Given the description of an element on the screen output the (x, y) to click on. 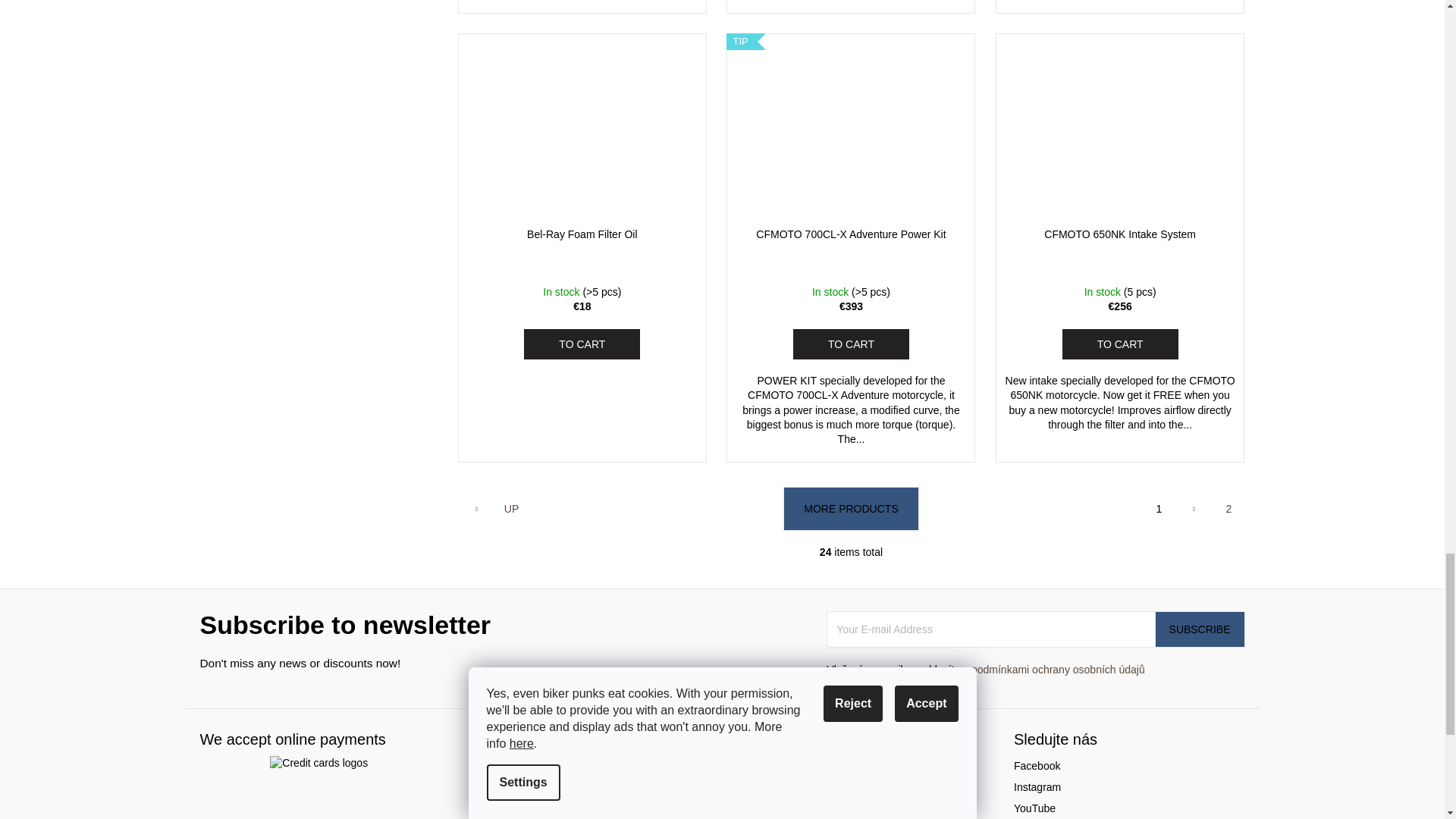
UP (510, 508)
